Given the description of an element on the screen output the (x, y) to click on. 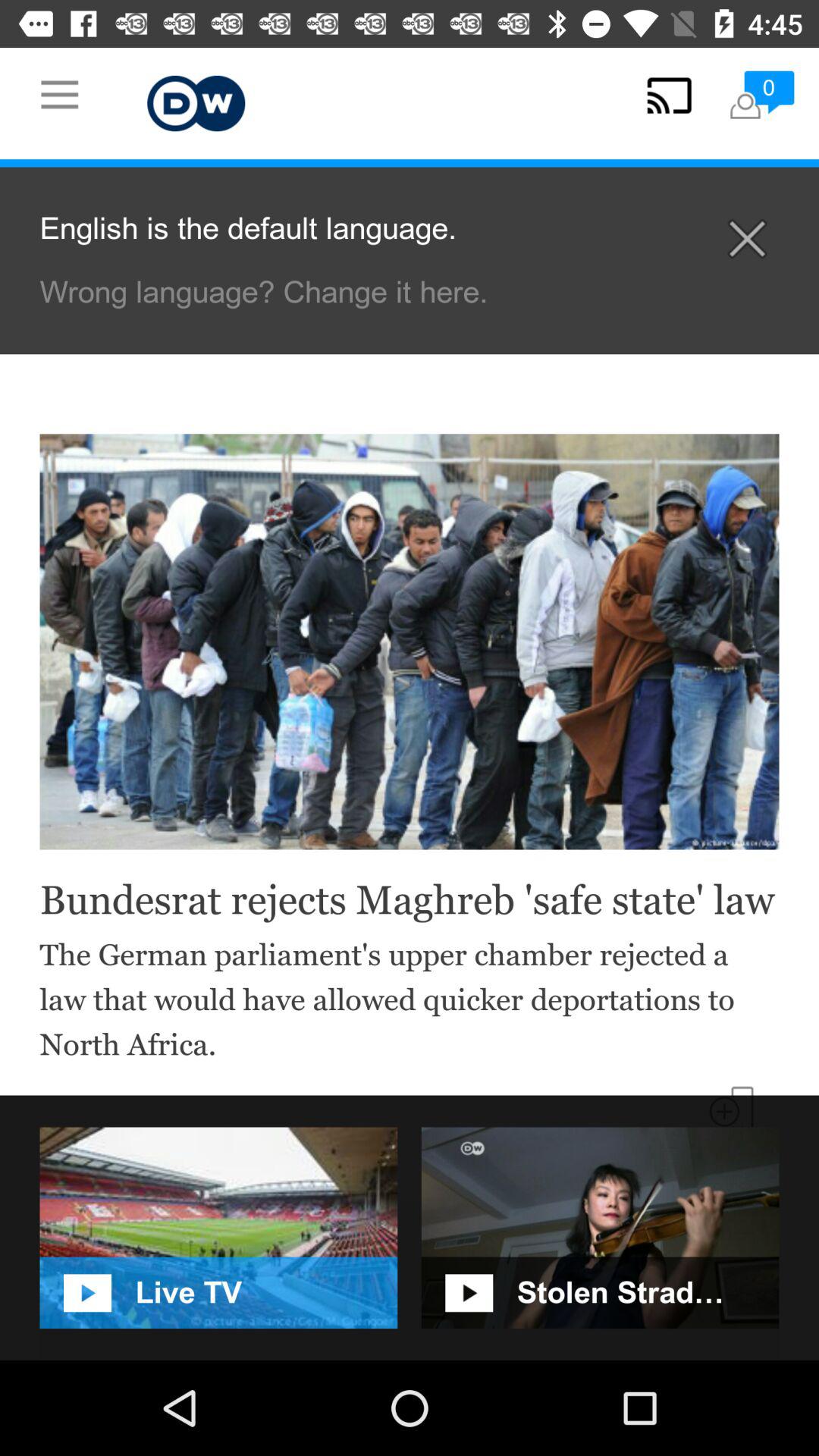
click the second thumbnail (600, 1227)
